Given the description of an element on the screen output the (x, y) to click on. 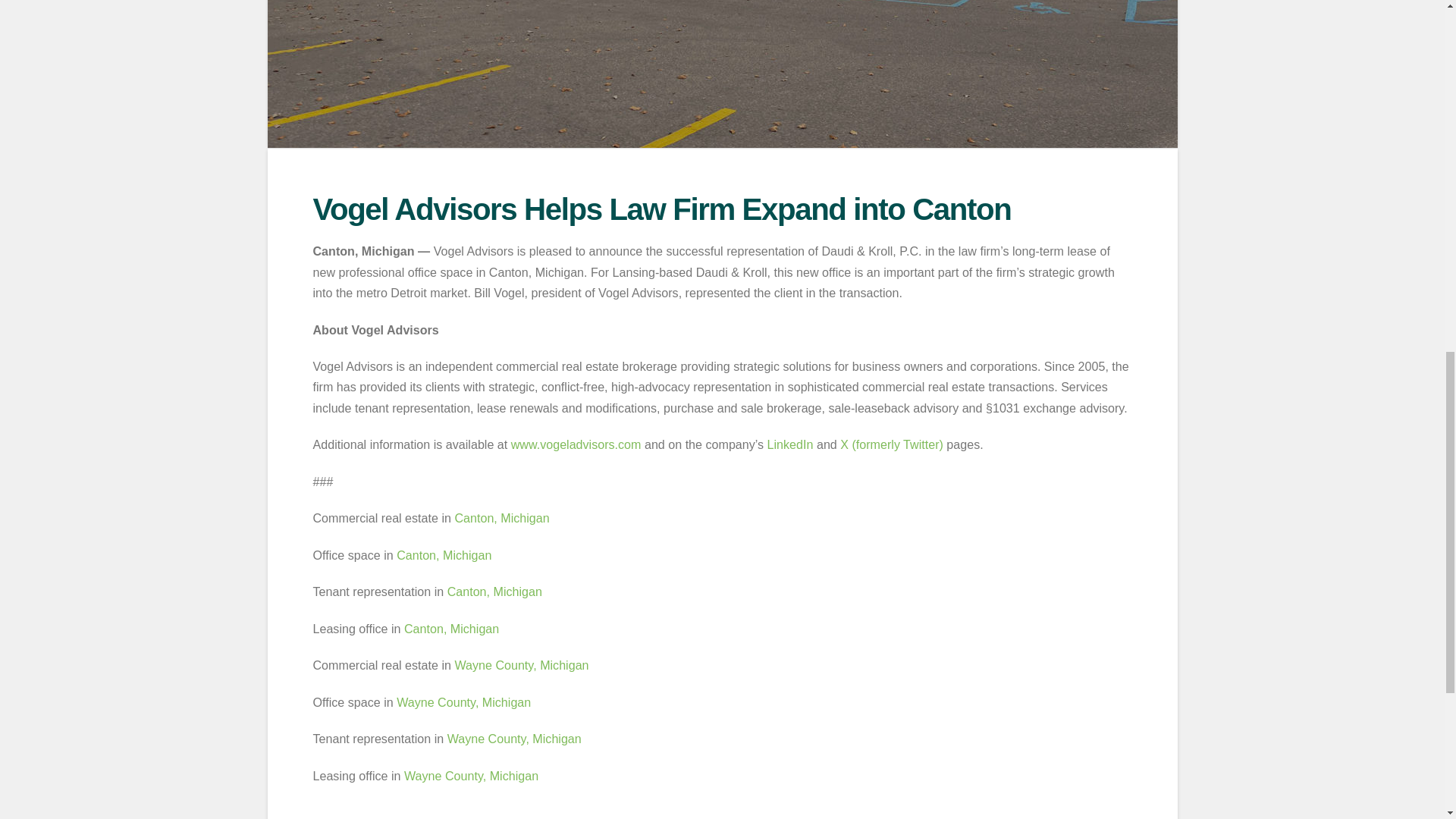
Canton, Michigan (493, 591)
Wayne County, Michigan (513, 738)
Canton, Michigan (501, 517)
Canton, Michigan (444, 554)
www.vogeladvisors.com (576, 444)
Wayne County, Michigan (521, 664)
LinkedIn (790, 444)
Wayne County, Michigan (463, 702)
Wayne County, Michigan (471, 775)
Canton, Michigan (451, 628)
